Given the description of an element on the screen output the (x, y) to click on. 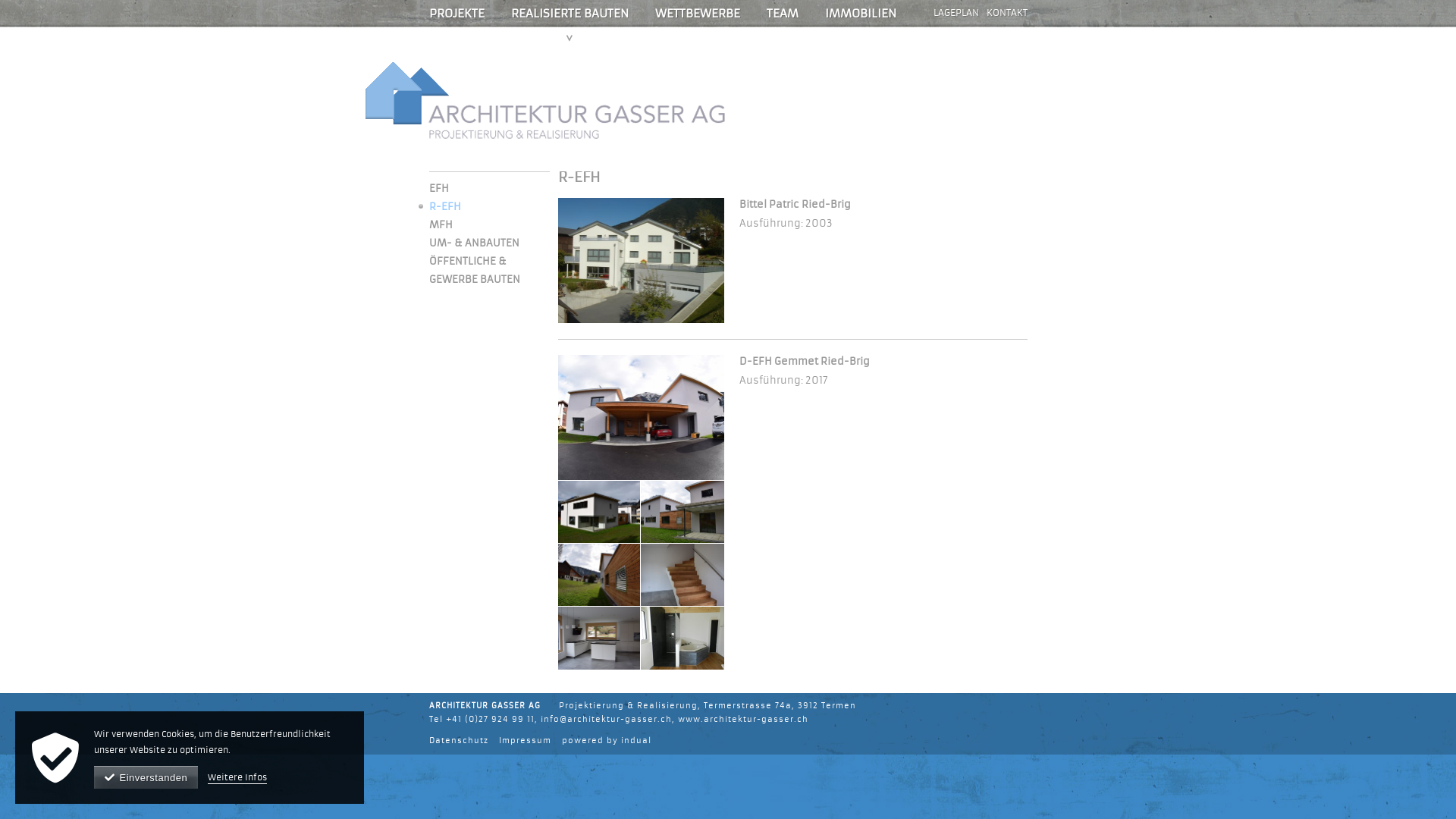
WETTBEWERBE Element type: text (697, 13)
Einverstanden Element type: text (145, 776)
IMMOBILIEN Element type: text (860, 13)
R-EFH Element type: text (439, 206)
UM- & ANBAUTEN Element type: text (474, 242)
TEAM Element type: text (781, 13)
www.architektur-gasser.ch Element type: text (742, 719)
Weitere Infos Element type: text (236, 776)
Datenschutz Element type: text (458, 740)
info@architektur-gasser.ch Element type: text (605, 719)
PROJEKTE Element type: text (456, 13)
KONTAKT Element type: text (1002, 13)
Tel +41 (0)27 924 99 11 Element type: text (481, 719)
REALISIERTE BAUTEN Element type: text (569, 13)
LAGEPLAN Element type: text (951, 13)
MFH Element type: text (440, 224)
Impressum Element type: text (524, 740)
powered by indual Element type: text (605, 740)
EFH Element type: text (438, 188)
